Given the description of an element on the screen output the (x, y) to click on. 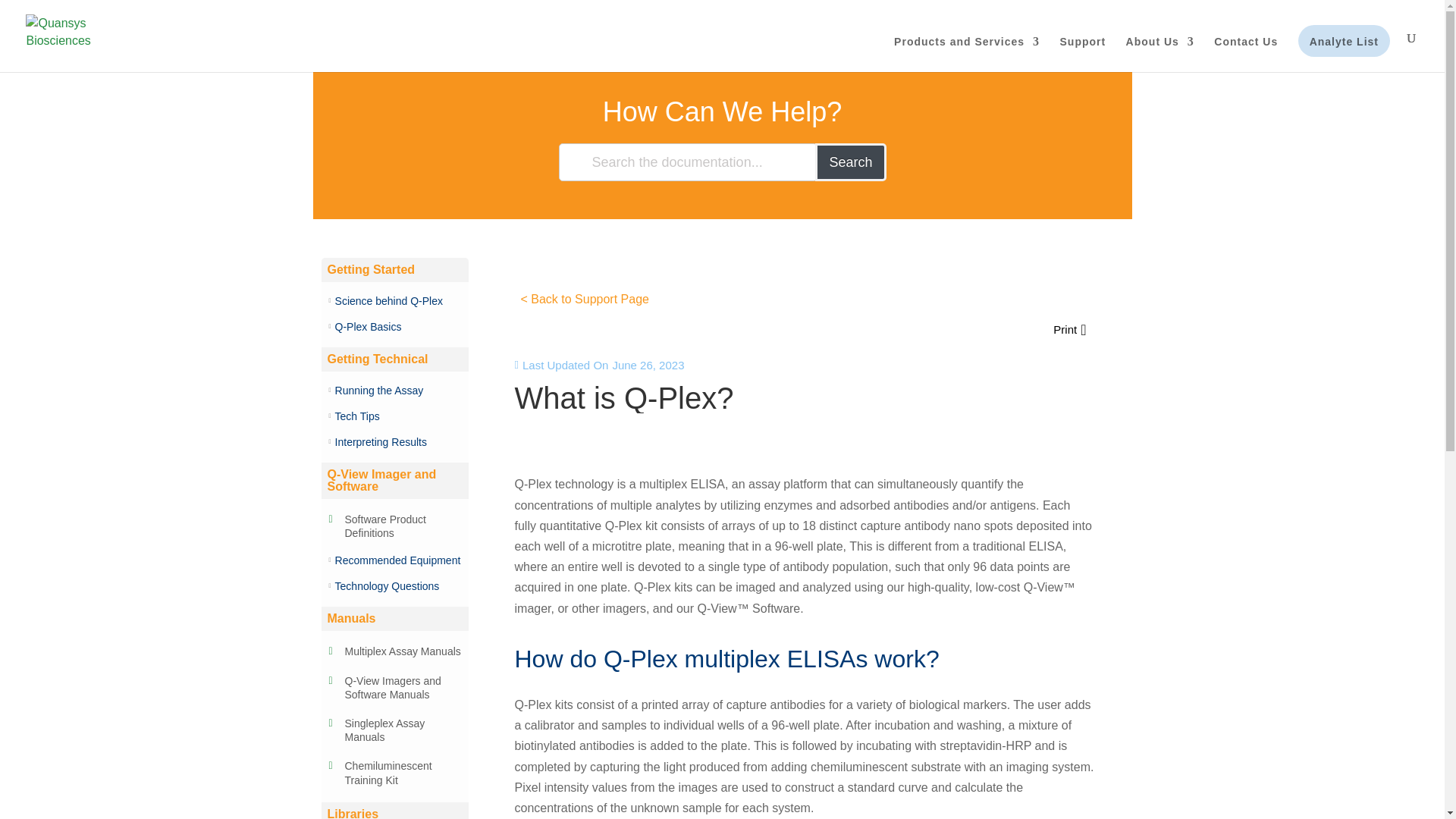
Science behind Q-Plex (388, 300)
Analyte List (1343, 54)
Q-Plex Basics (367, 326)
Search (850, 161)
Support (1082, 54)
Products and Services (966, 54)
Running the Assay (378, 389)
Contact Us (1246, 54)
About Us (1159, 54)
